Given the description of an element on the screen output the (x, y) to click on. 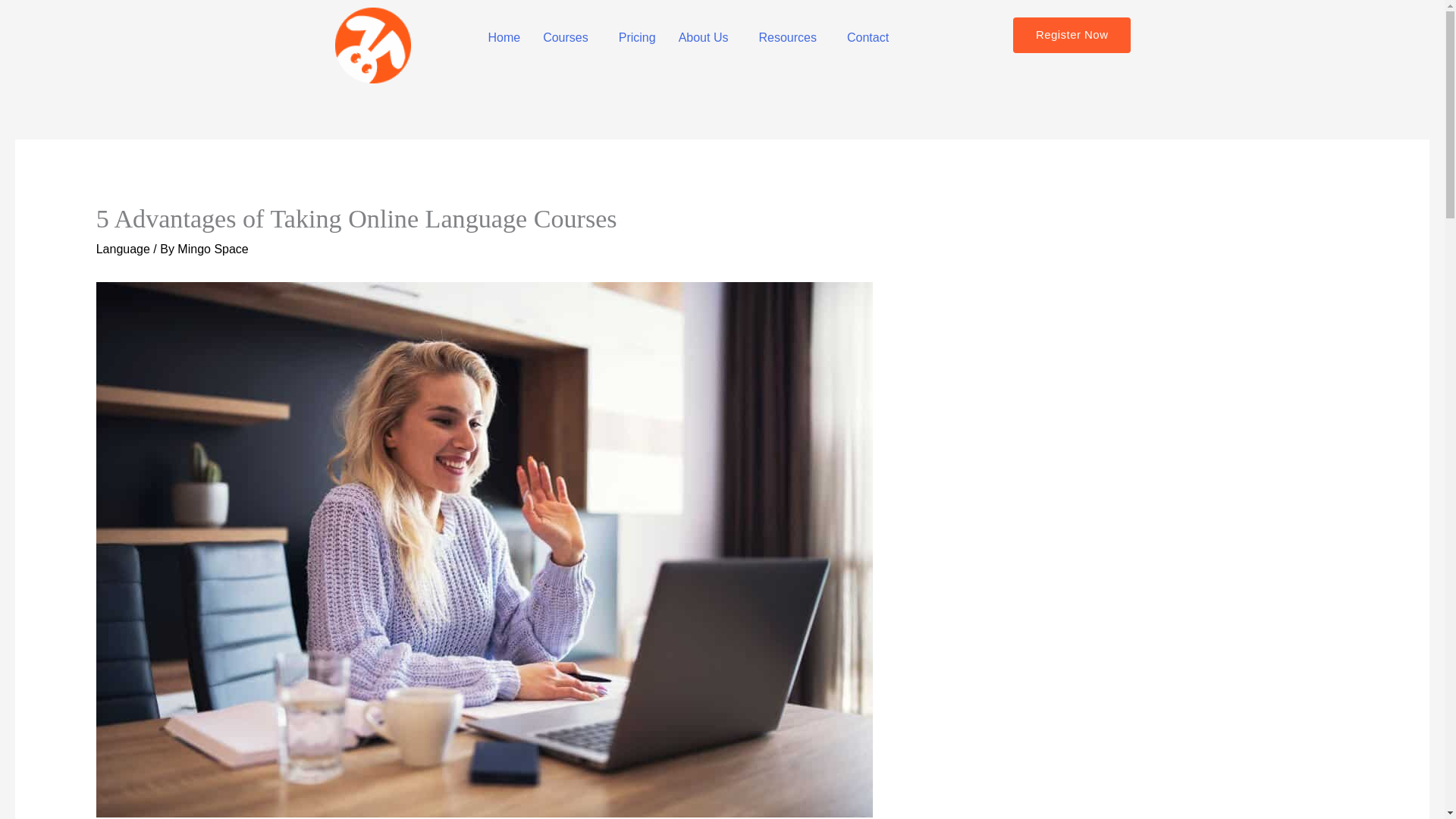
Register Now (1072, 35)
About Us (707, 37)
Language (122, 248)
Resources (790, 37)
Mingo Space (212, 248)
Home (503, 37)
Contact (867, 37)
Courses (569, 37)
View all posts by Mingo Space (212, 248)
Pricing (636, 37)
